Given the description of an element on the screen output the (x, y) to click on. 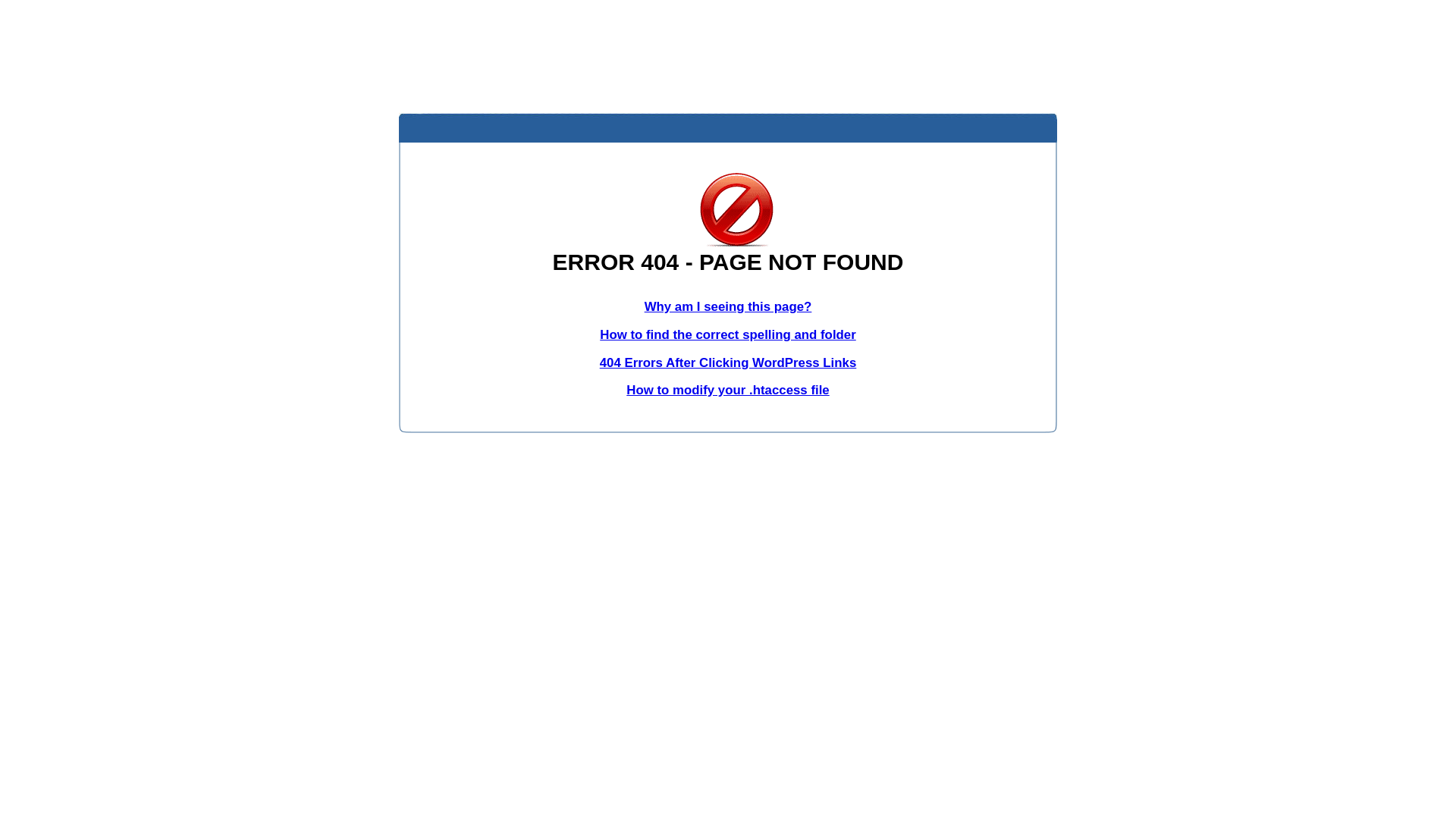
404 Errors After Clicking WordPress Links Element type: text (727, 362)
How to find the correct spelling and folder Element type: text (727, 334)
How to modify your .htaccess file Element type: text (727, 389)
Why am I seeing this page? Element type: text (728, 306)
